Given the description of an element on the screen output the (x, y) to click on. 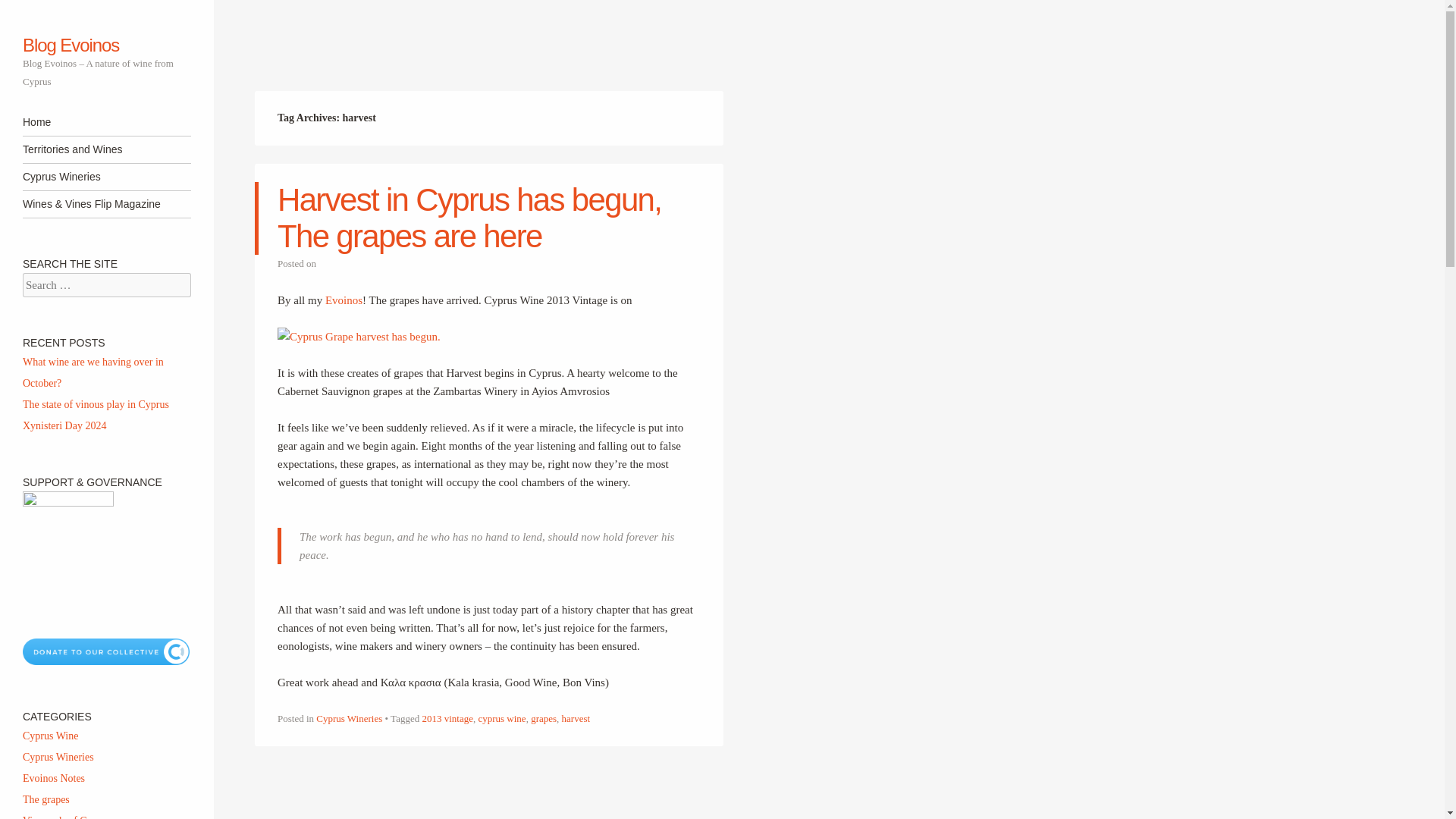
Cyprus Wineries (106, 176)
Cyprus Wineries (348, 717)
Xynisteri Day 2024 (64, 425)
cyprus wine (501, 717)
Cyprus Wine (50, 736)
Blog Evoinos (71, 45)
Vineyards of Cyprus (66, 816)
First grapes of Cabernet Sauvignon are in (359, 336)
The grapes (46, 799)
harvest (576, 717)
Cyprus Wineries (58, 756)
What wine are we having over in October? (93, 372)
Blog Evoinos (71, 45)
The state of vinous play in Cyprus (95, 404)
Search (32, 11)
